Given the description of an element on the screen output the (x, y) to click on. 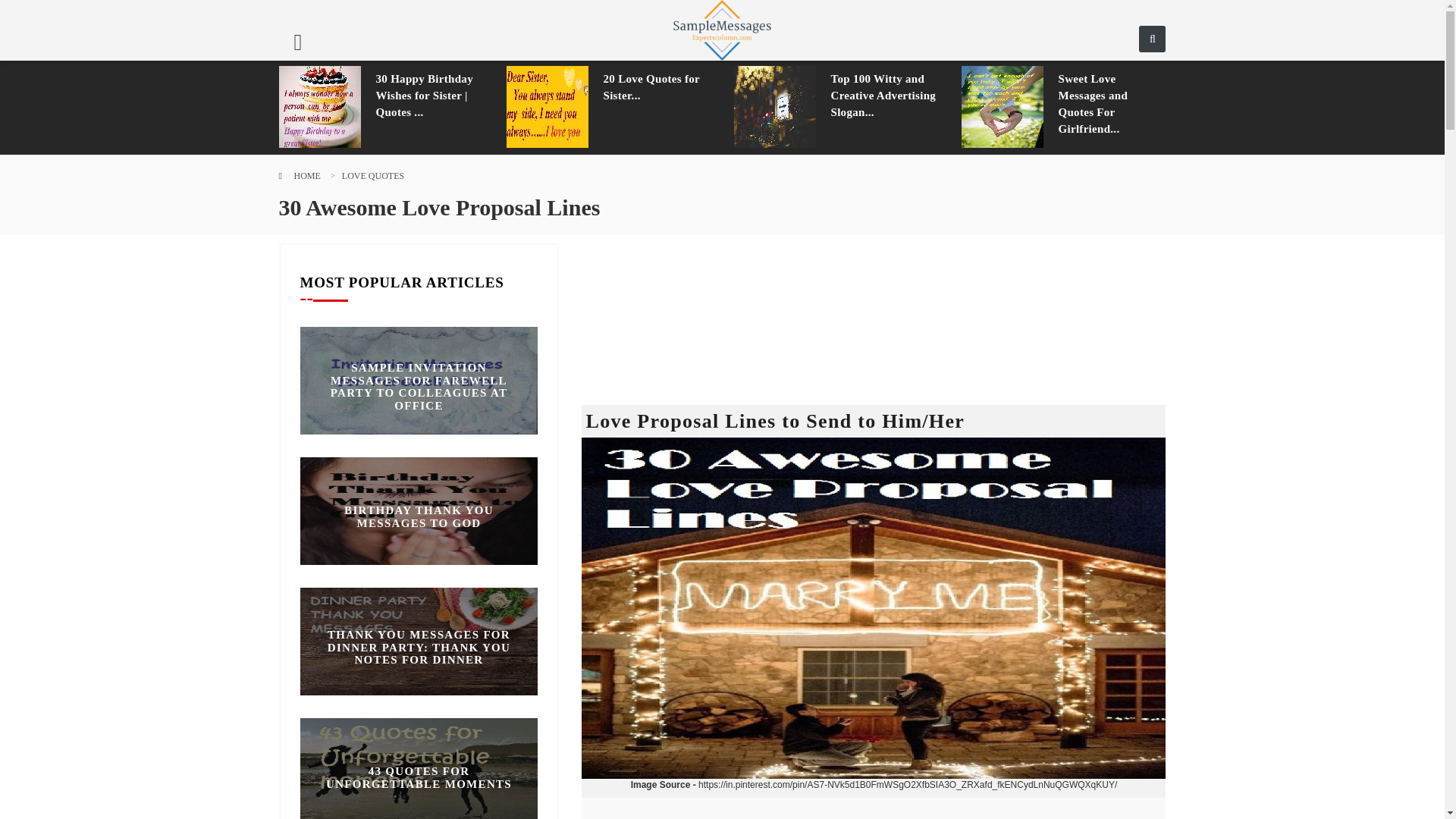
Sweet Love Messages and Quotes For Girlfriend... (1112, 103)
20 Love Quotes for Sister... (657, 87)
LOVE QUOTES (373, 175)
Top 100 Witty and Creative Advertising Slogan... (885, 95)
HOME (307, 175)
